Given the description of an element on the screen output the (x, y) to click on. 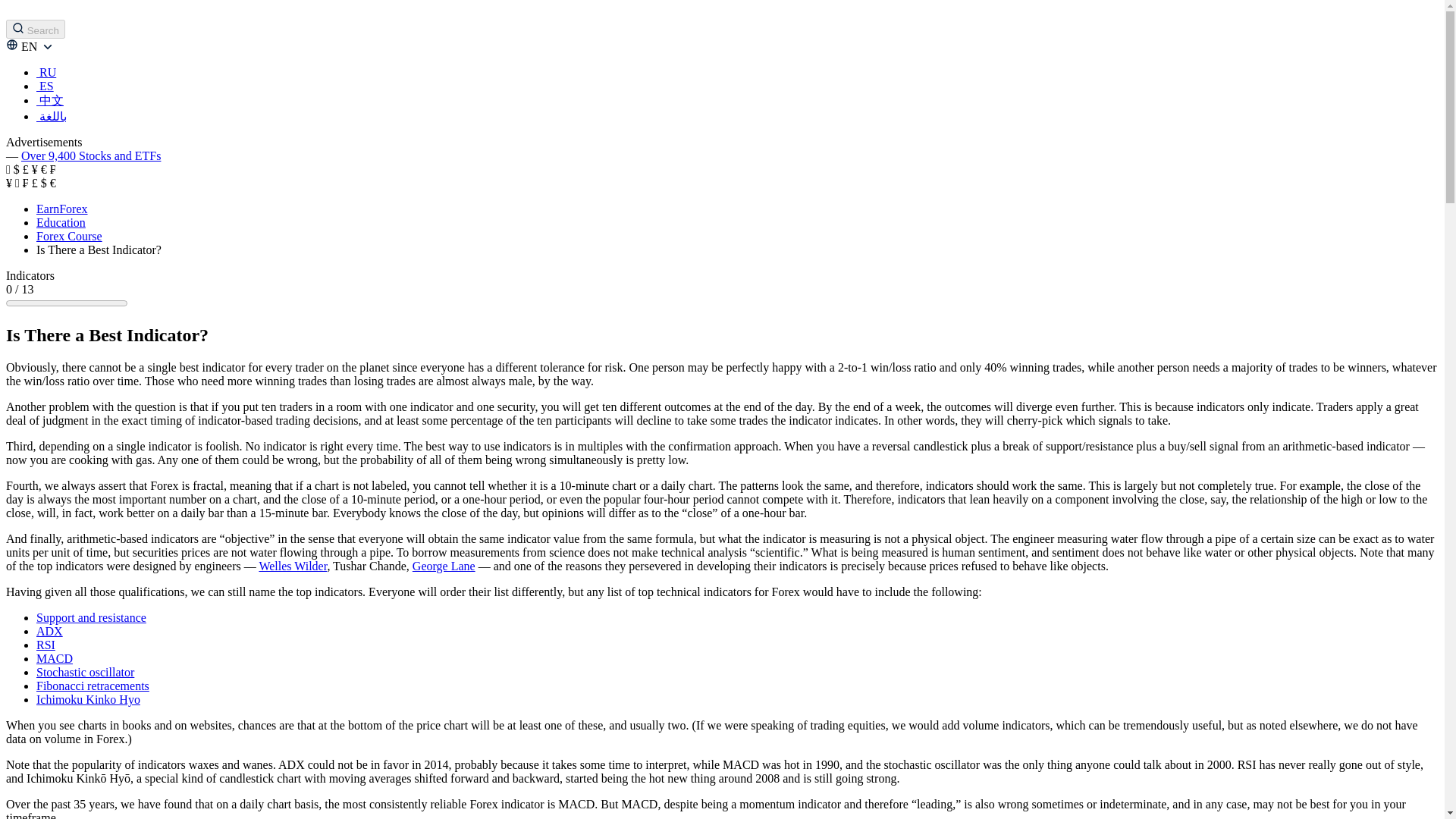
Stochastic oscillator (84, 671)
Education (60, 222)
ES (44, 85)
Fibonacci retracements (92, 685)
EarnForex (61, 208)
EarnForex (61, 208)
RSI (45, 644)
Education (60, 222)
Search (35, 28)
ADX (49, 631)
Forex Course (68, 236)
George Lane (444, 565)
Ichimoku Kinko Hyo (87, 698)
Forex Course (68, 236)
Over 9,400 Stocks and ETFs (90, 155)
